Given the description of an element on the screen output the (x, y) to click on. 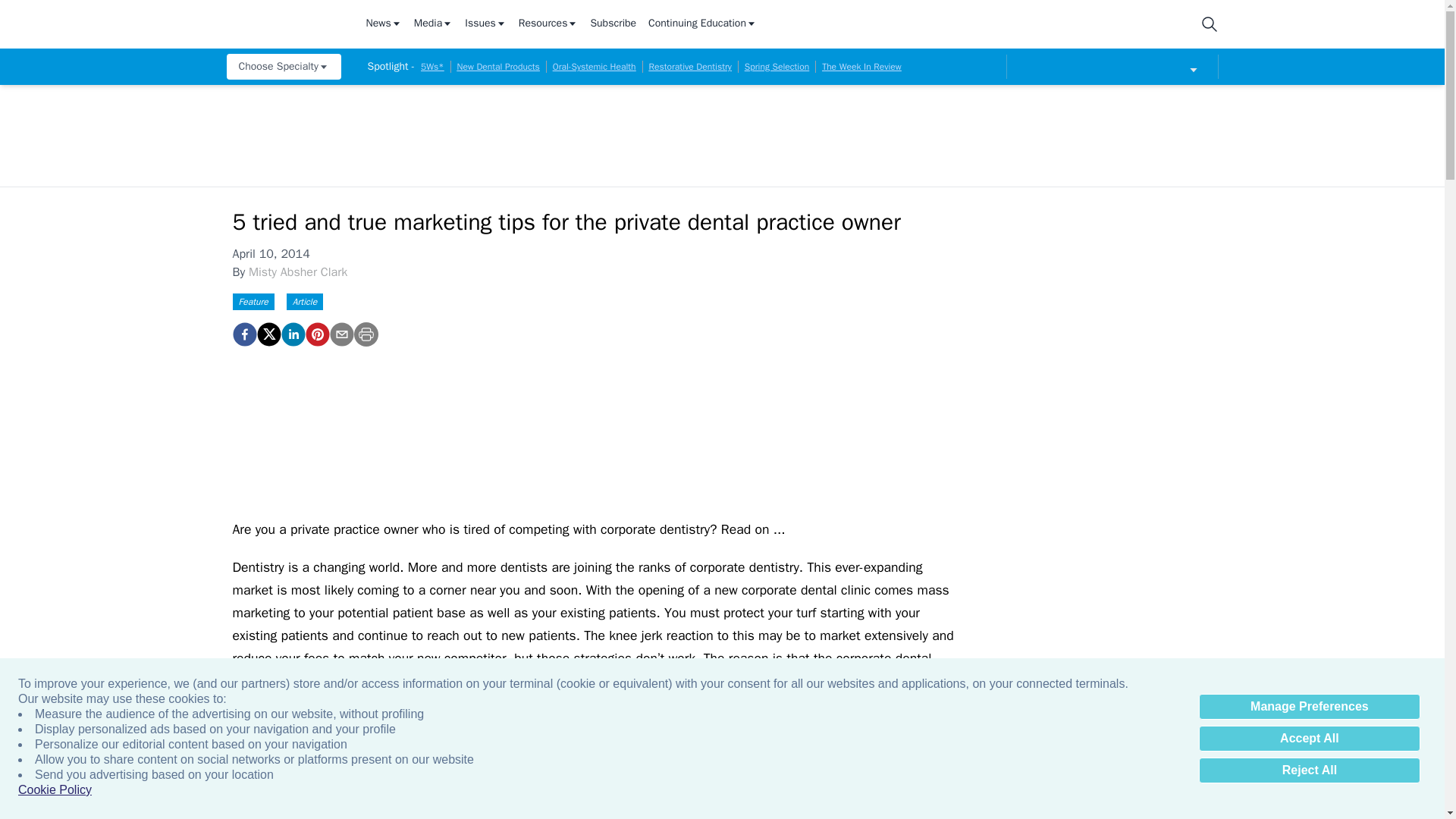
News (383, 23)
Subscribe (612, 23)
Manage Preferences (1309, 706)
Continuing Education (702, 23)
Issues (485, 23)
Reject All (1309, 769)
Resources (548, 23)
Media (432, 23)
